Given the description of an element on the screen output the (x, y) to click on. 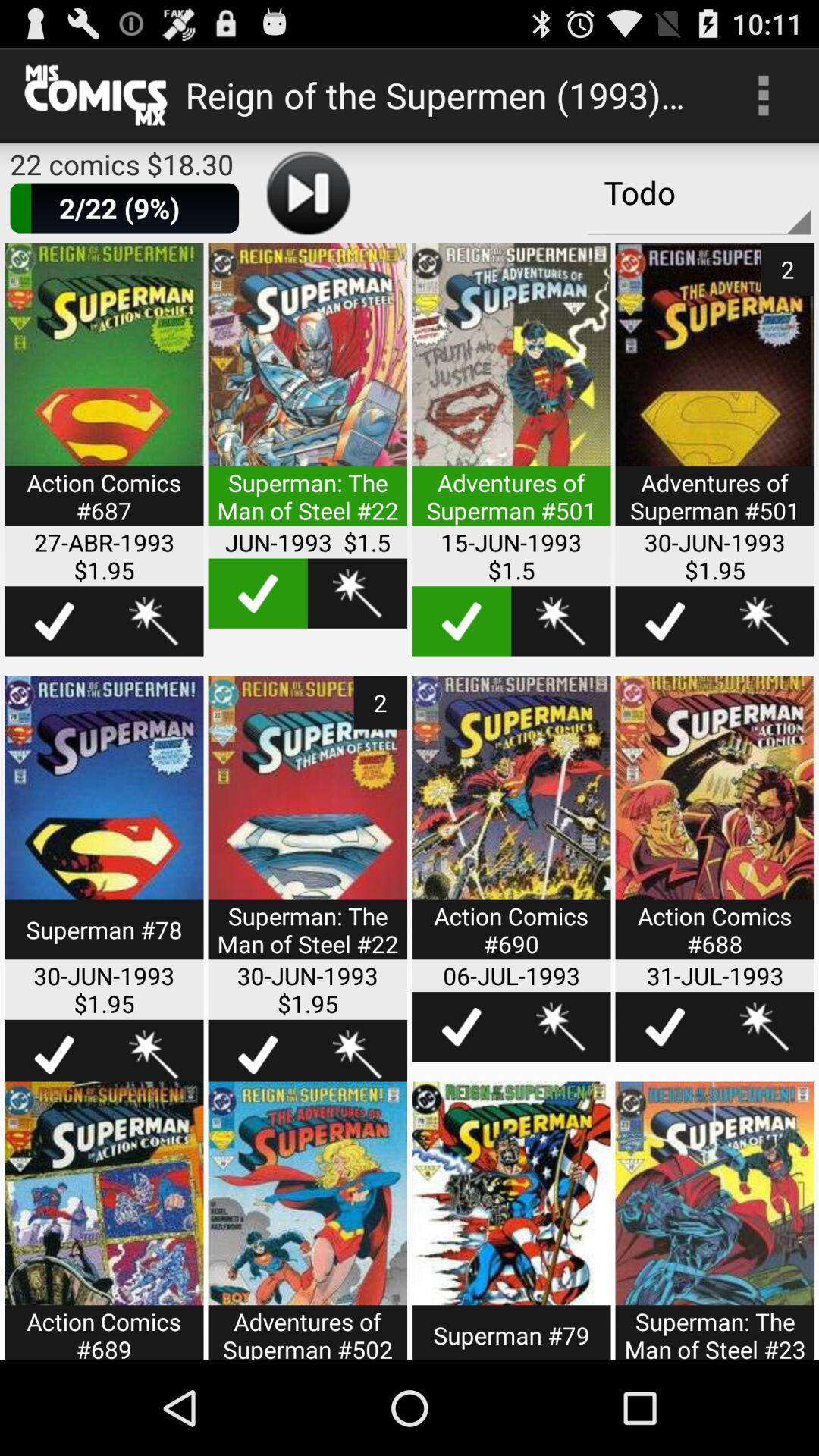
add to wishlist (560, 1026)
